Given the description of an element on the screen output the (x, y) to click on. 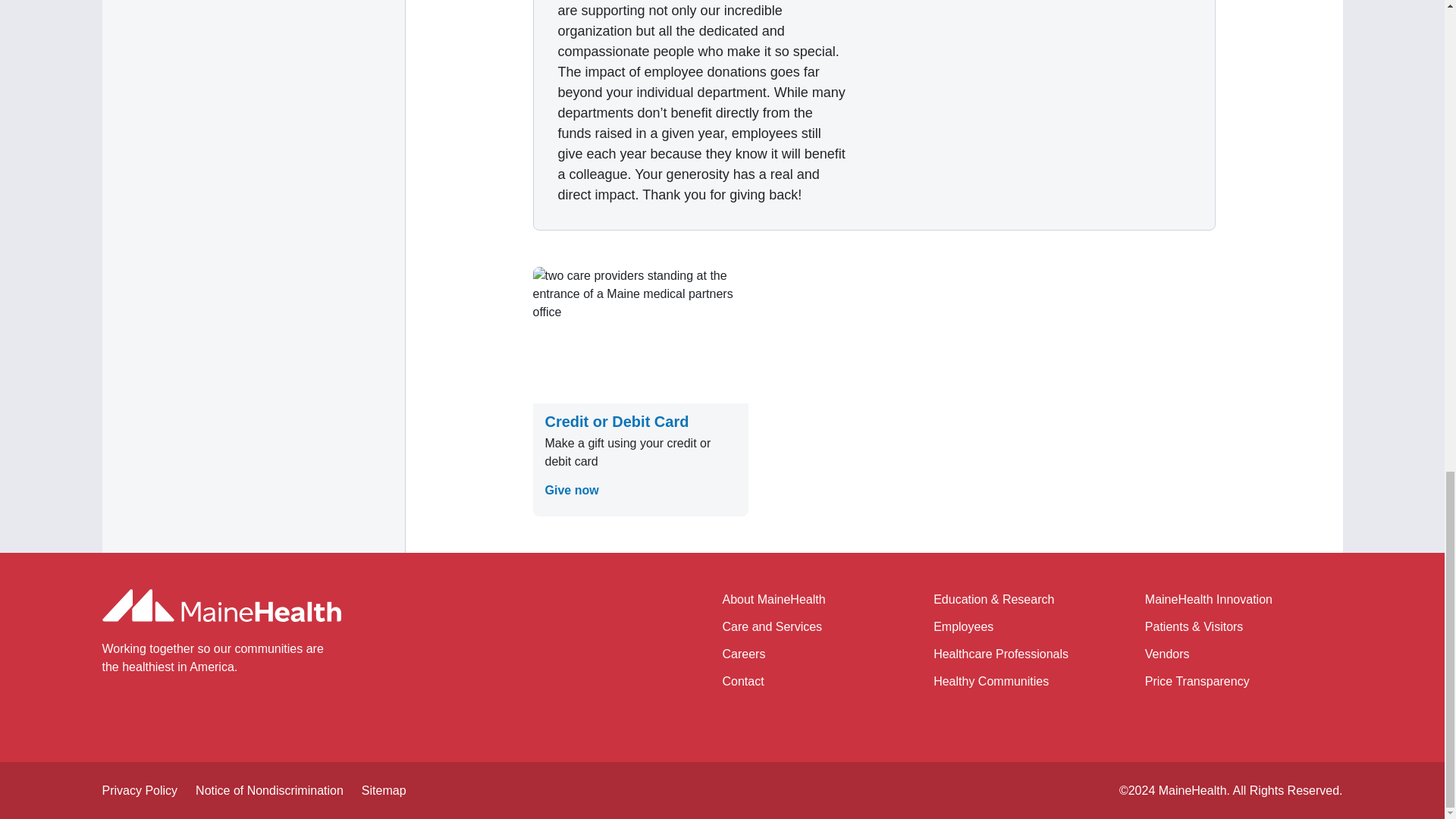
Twitter (110, 710)
Instagram (204, 710)
Facebook (142, 710)
Give now (571, 490)
Credit or Debit Card (616, 421)
LinkedIn (234, 710)
YouTube (173, 710)
OUR Place 2024 (1043, 115)
About MaineHealth (773, 599)
